Given the description of an element on the screen output the (x, y) to click on. 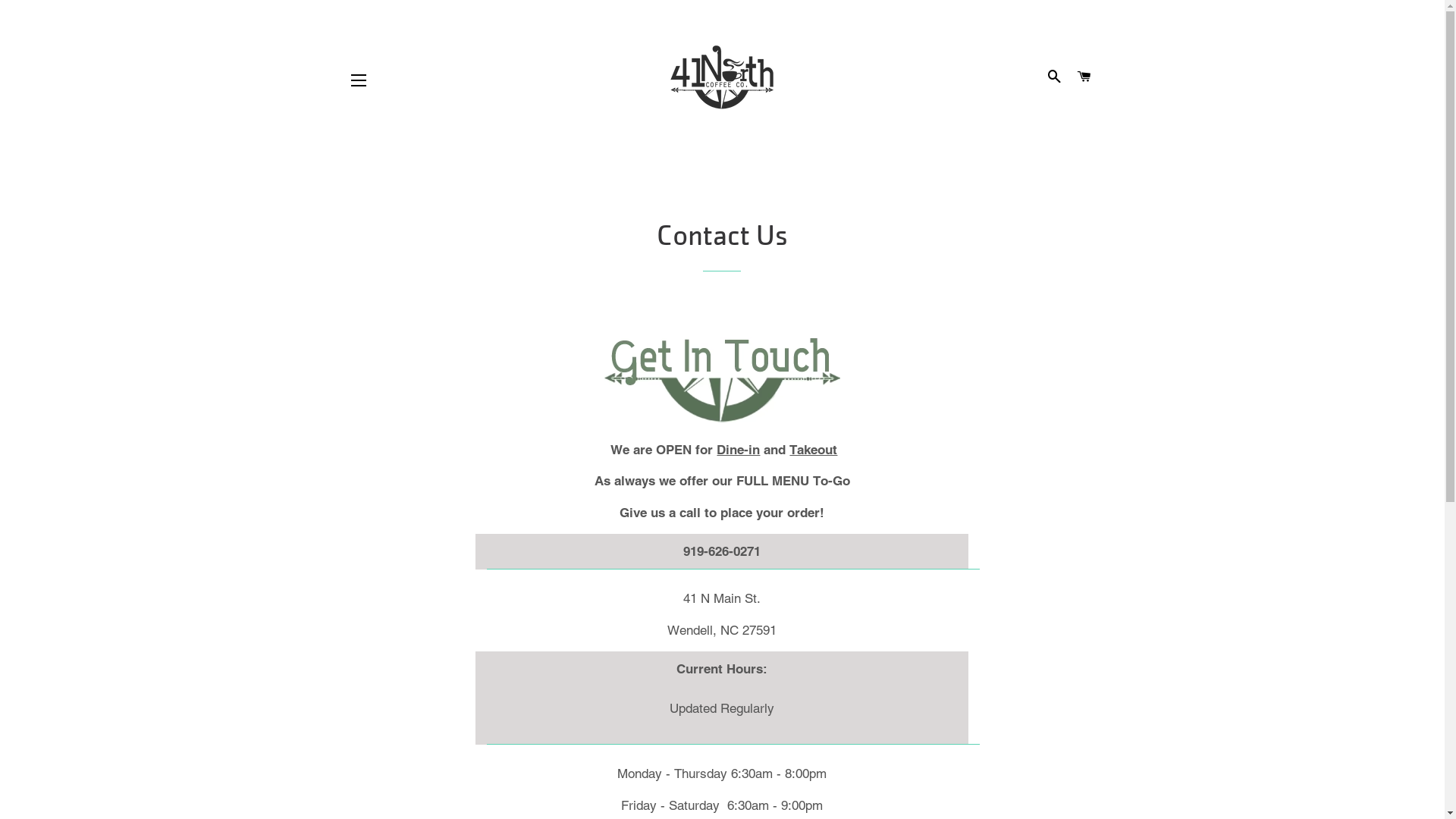
CART Element type: text (1084, 77)
SEARCH Element type: text (1054, 77)
SITE NAVIGATION Element type: text (358, 80)
